Given the description of an element on the screen output the (x, y) to click on. 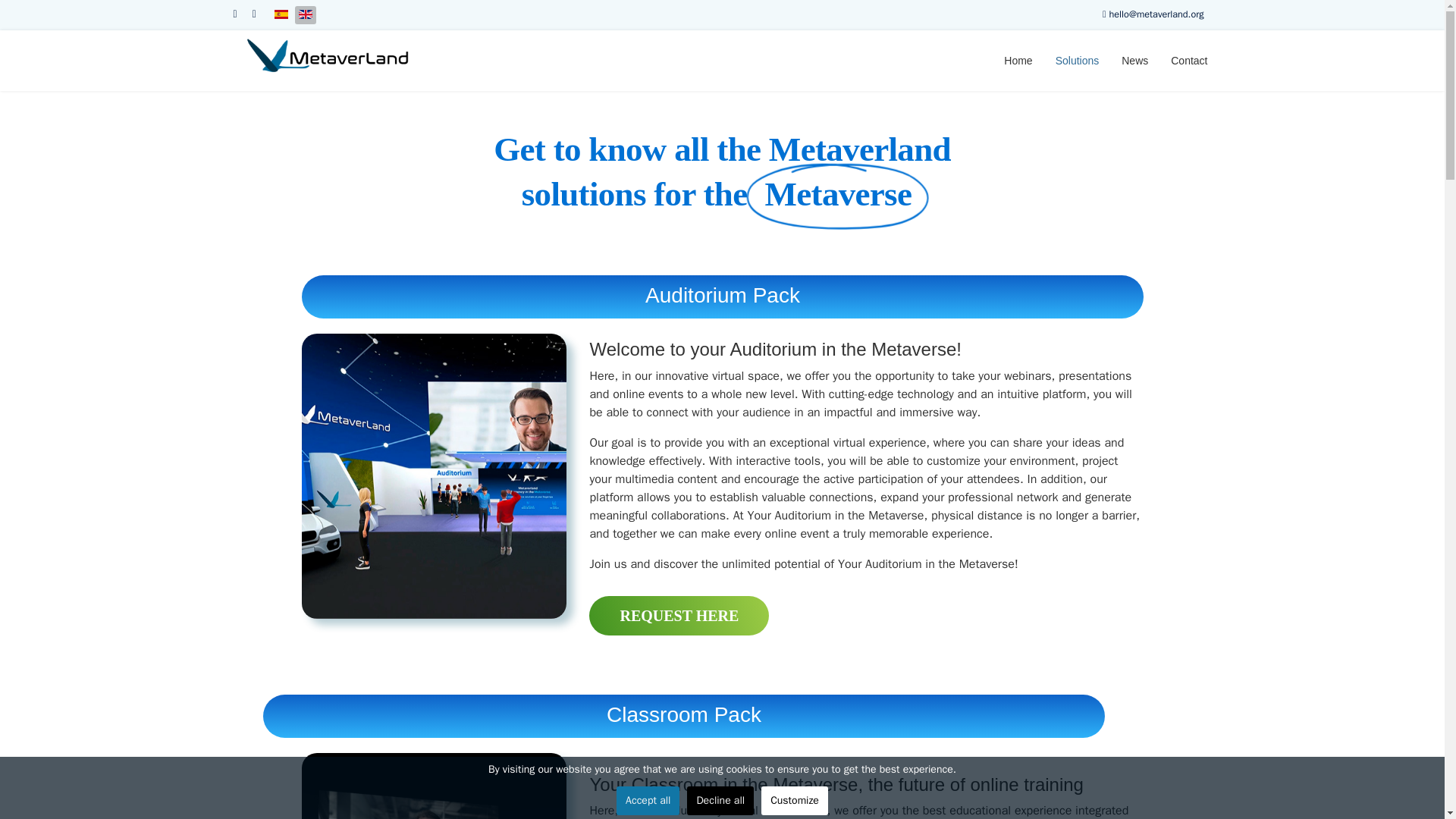
REQUEST HERE (678, 615)
Solutions (1076, 60)
Decline all (720, 800)
Accept all (647, 800)
Customize (794, 800)
Solutions (1076, 60)
